Given the description of an element on the screen output the (x, y) to click on. 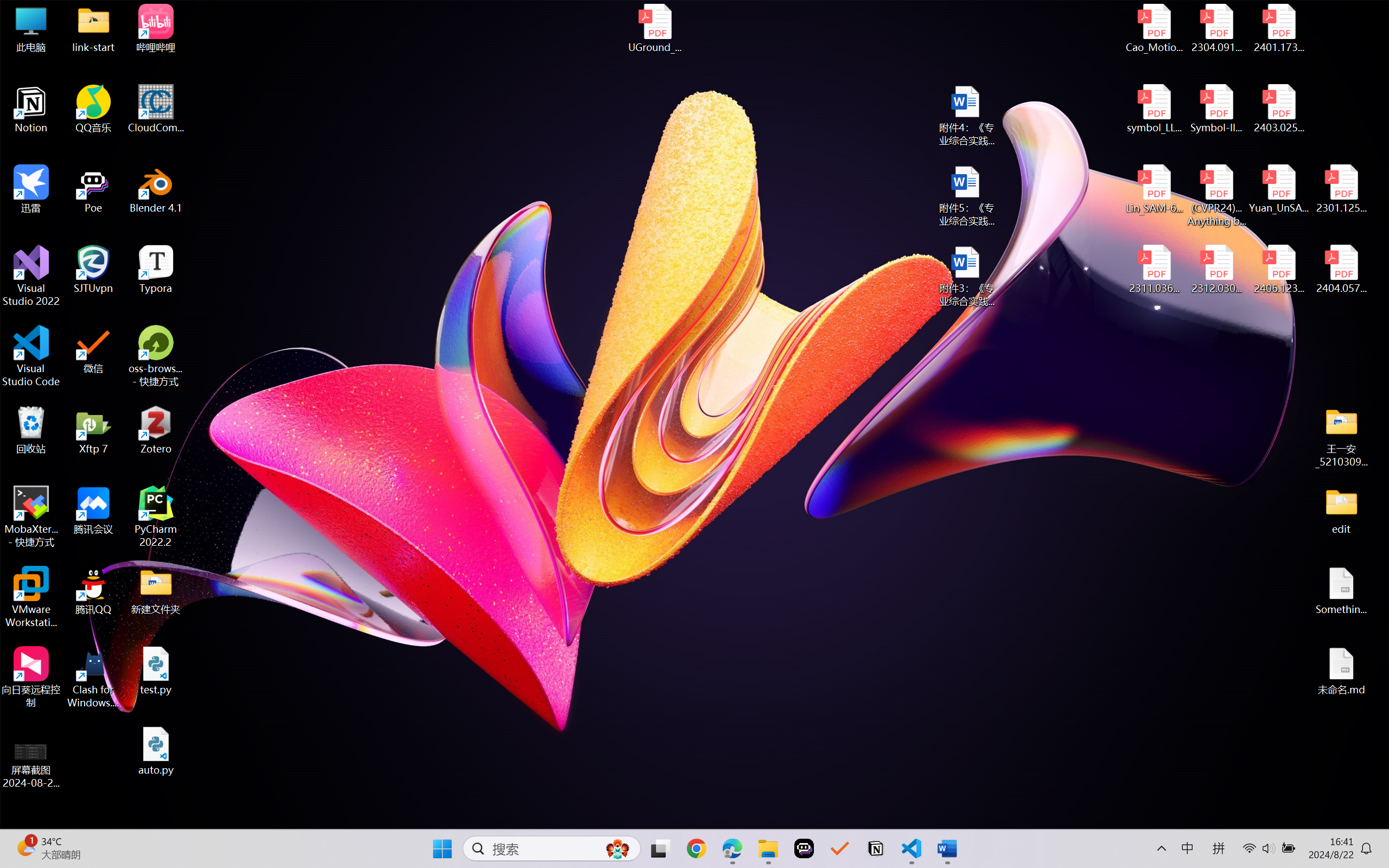
Xftp 7 (93, 430)
PyCharm 2022.2 (156, 516)
symbol_LLM.pdf (1154, 109)
UGround_paper.pdf (654, 28)
